Given the description of an element on the screen output the (x, y) to click on. 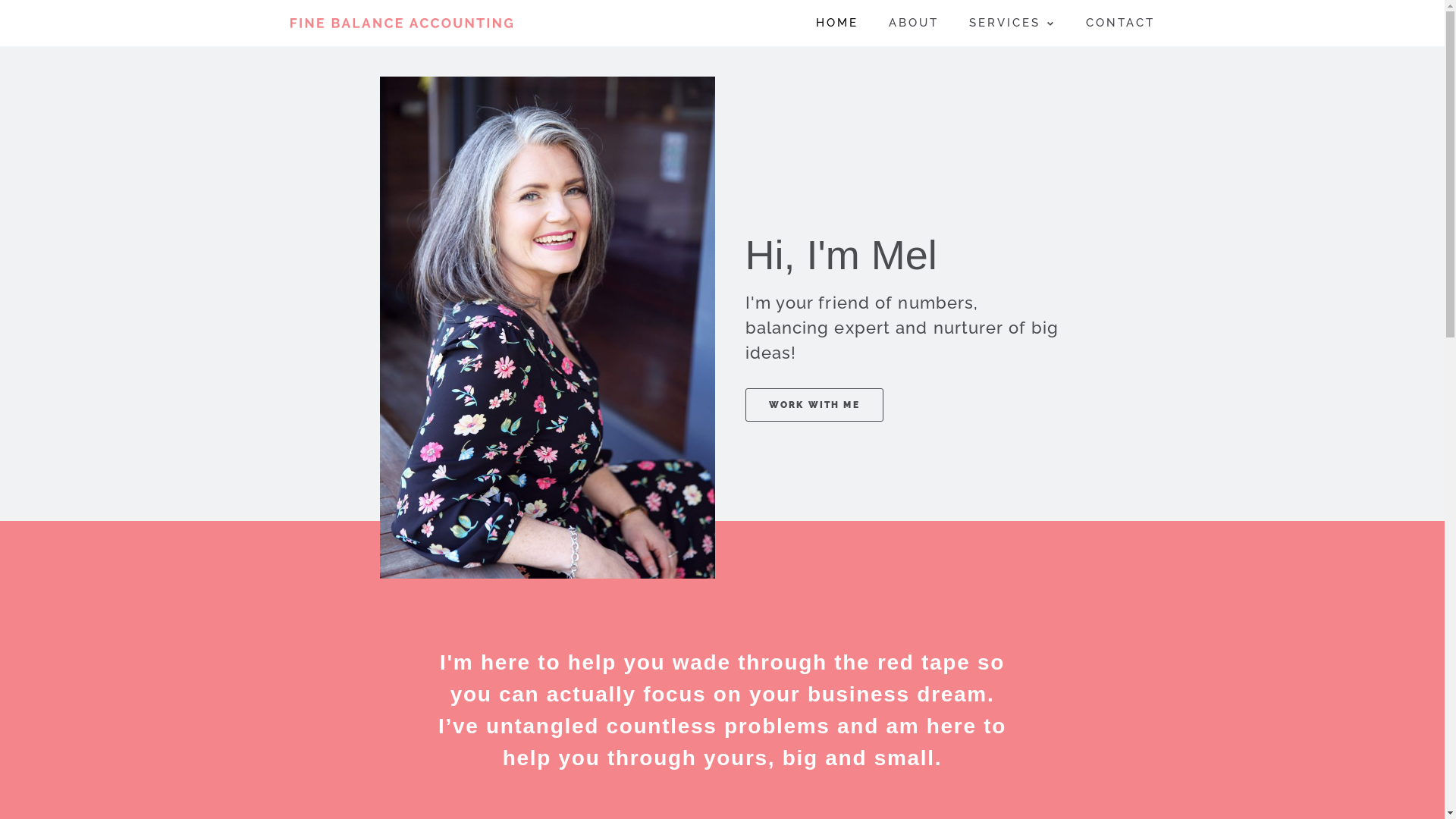
Fine Balance Accounting Element type: hover (400, 23)
SERVICES Element type: text (1012, 22)
Skip to content Element type: text (15, 7)
CONTACT Element type: text (1119, 22)
HOME Element type: text (836, 22)
WORK WITH ME Element type: text (813, 404)
ABOUT Element type: text (913, 22)
